Given the description of an element on the screen output the (x, y) to click on. 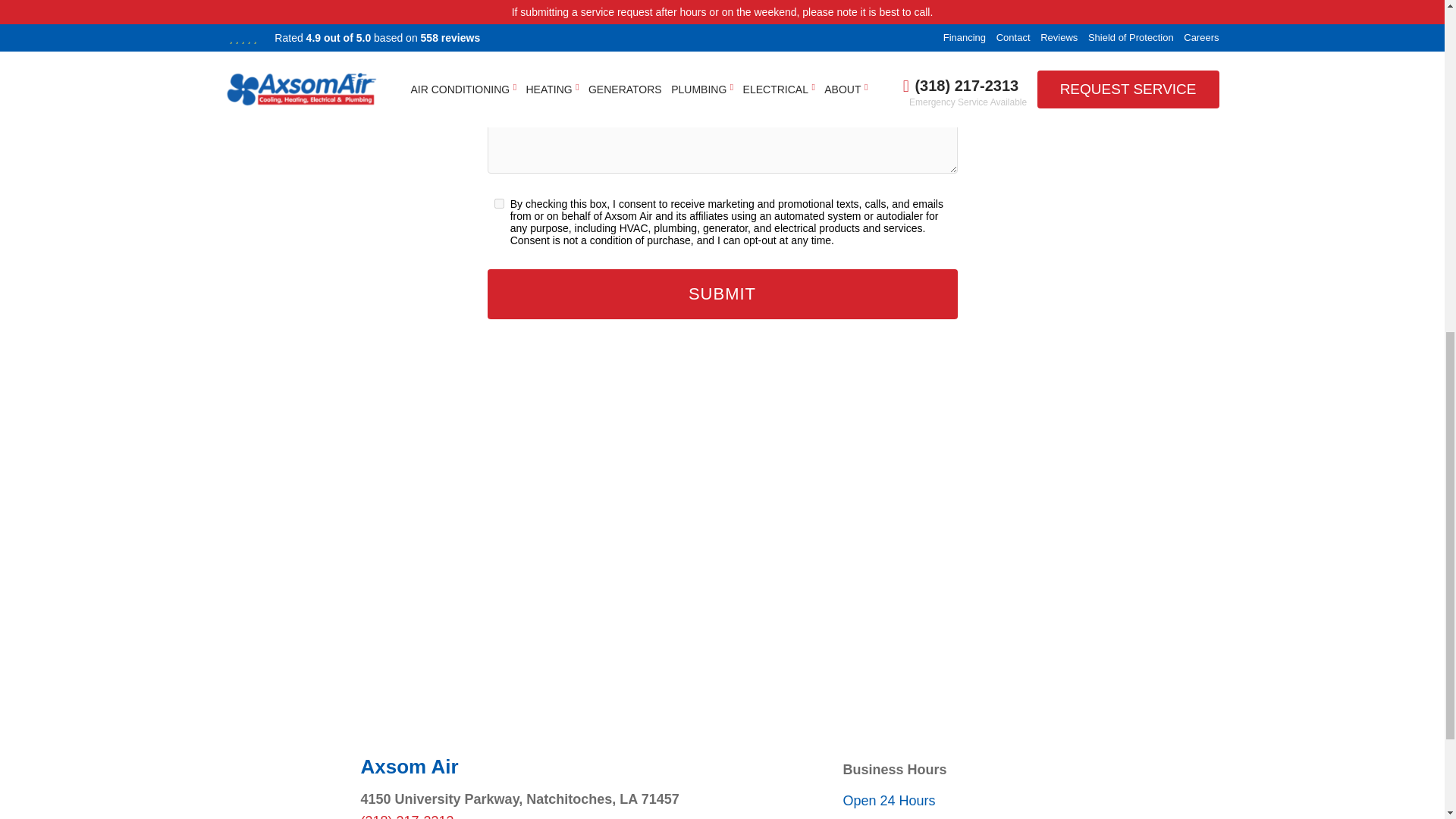
Submit (721, 294)
